Given the description of an element on the screen output the (x, y) to click on. 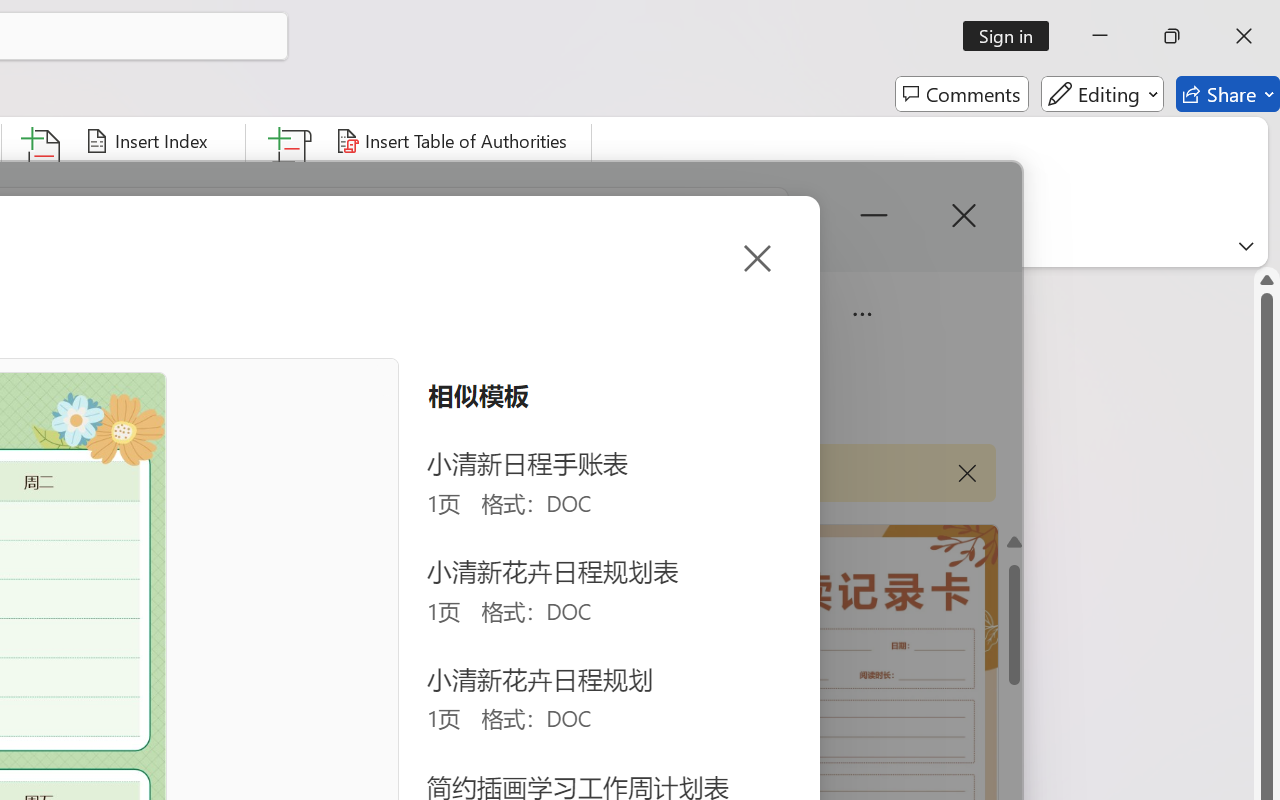
Sign in (1012, 35)
Line up (1267, 279)
Mark Entry... (44, 179)
Update Table (404, 179)
Editing (1101, 94)
Mark Citation... (292, 179)
Insert Index... (149, 141)
Update Index (156, 179)
